Given the description of an element on the screen output the (x, y) to click on. 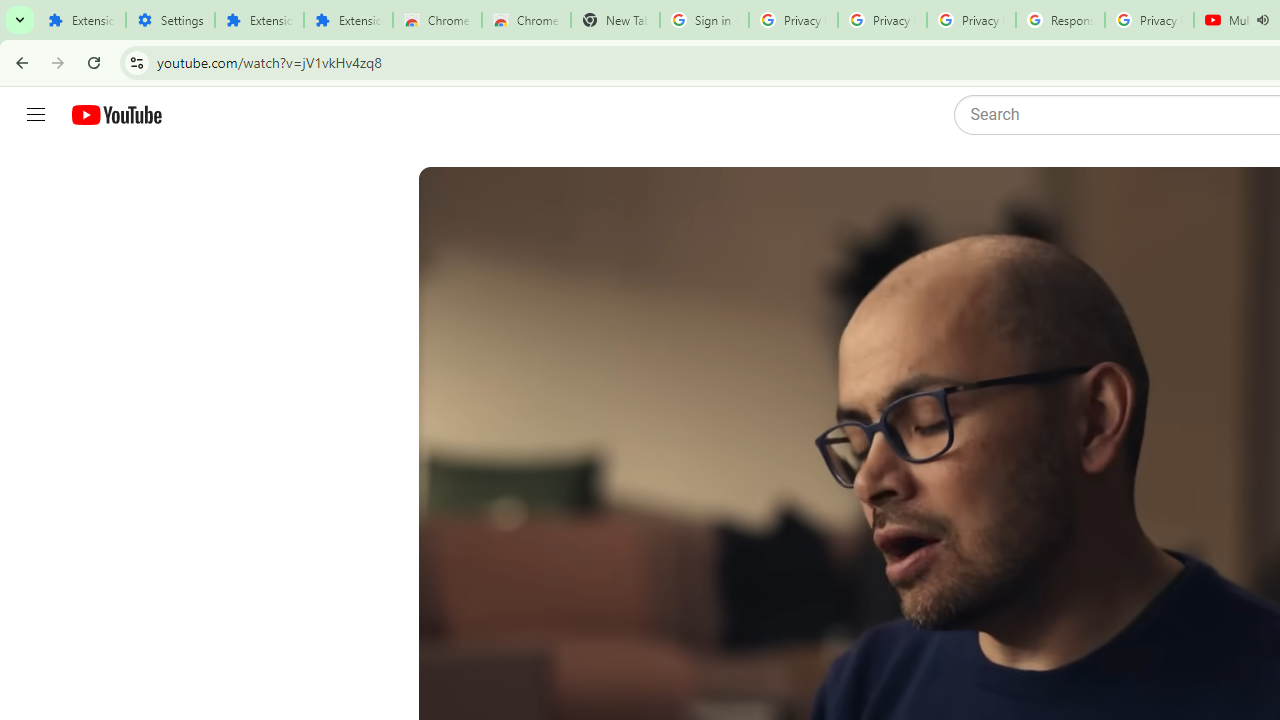
New Tab (615, 20)
Extensions (259, 20)
Settings (170, 20)
Extensions (81, 20)
YouTube Home (116, 115)
Sign in - Google Accounts (704, 20)
Mute tab (1262, 20)
